Given the description of an element on the screen output the (x, y) to click on. 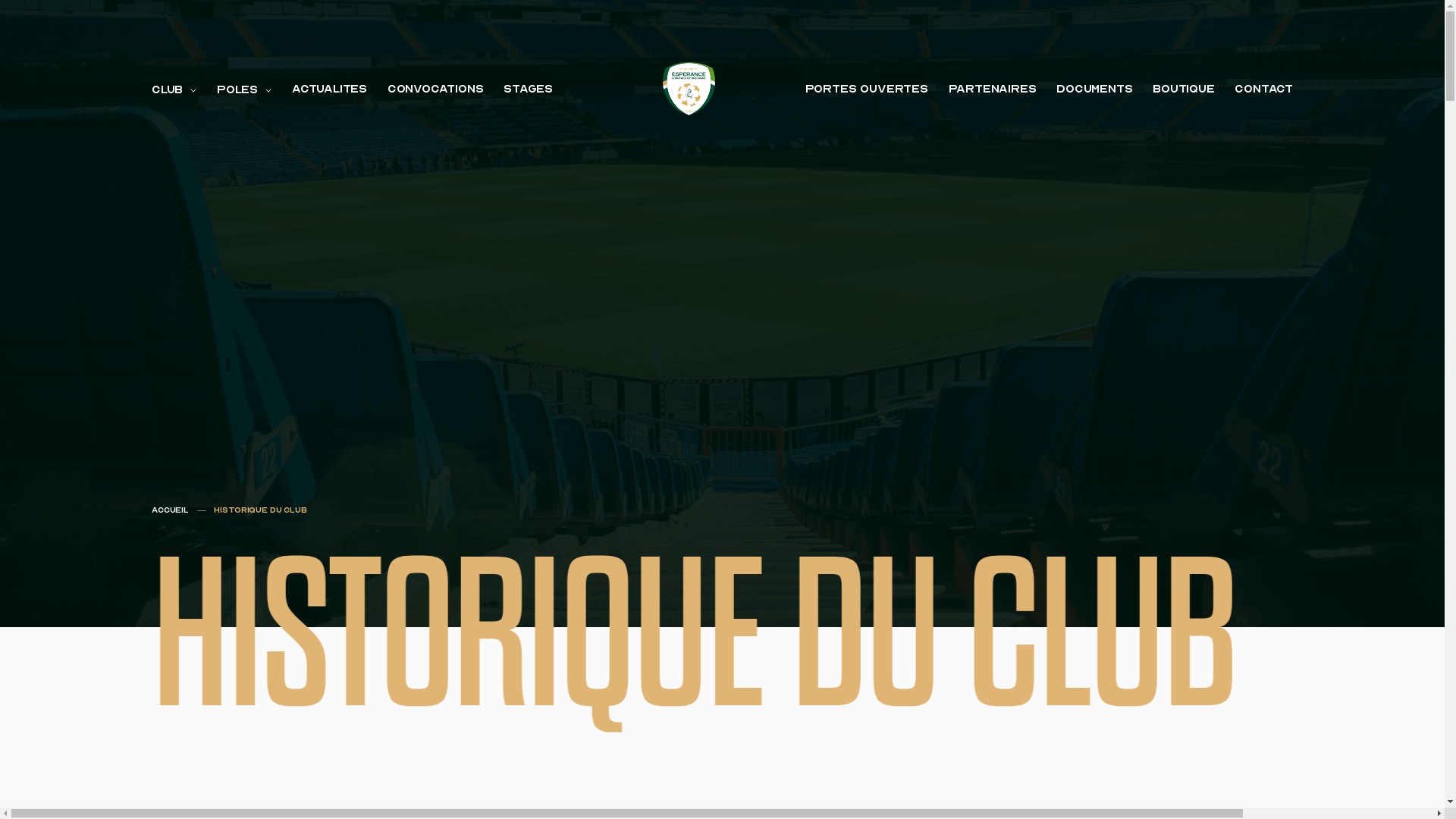
Mobile Menu Element type: text (18, 55)
partenaires Element type: text (992, 88)
Portes Ouvertes Element type: text (866, 88)
Convocations Element type: text (435, 88)
documents Element type: text (1094, 88)
Poles Element type: text (243, 89)
ACCUEIL Element type: text (169, 509)
Boutique Element type: text (1183, 88)
Stages Element type: text (527, 88)
Actualites Element type: text (329, 88)
contact Element type: text (1263, 88)
Club Element type: text (173, 89)
